Given the description of an element on the screen output the (x, y) to click on. 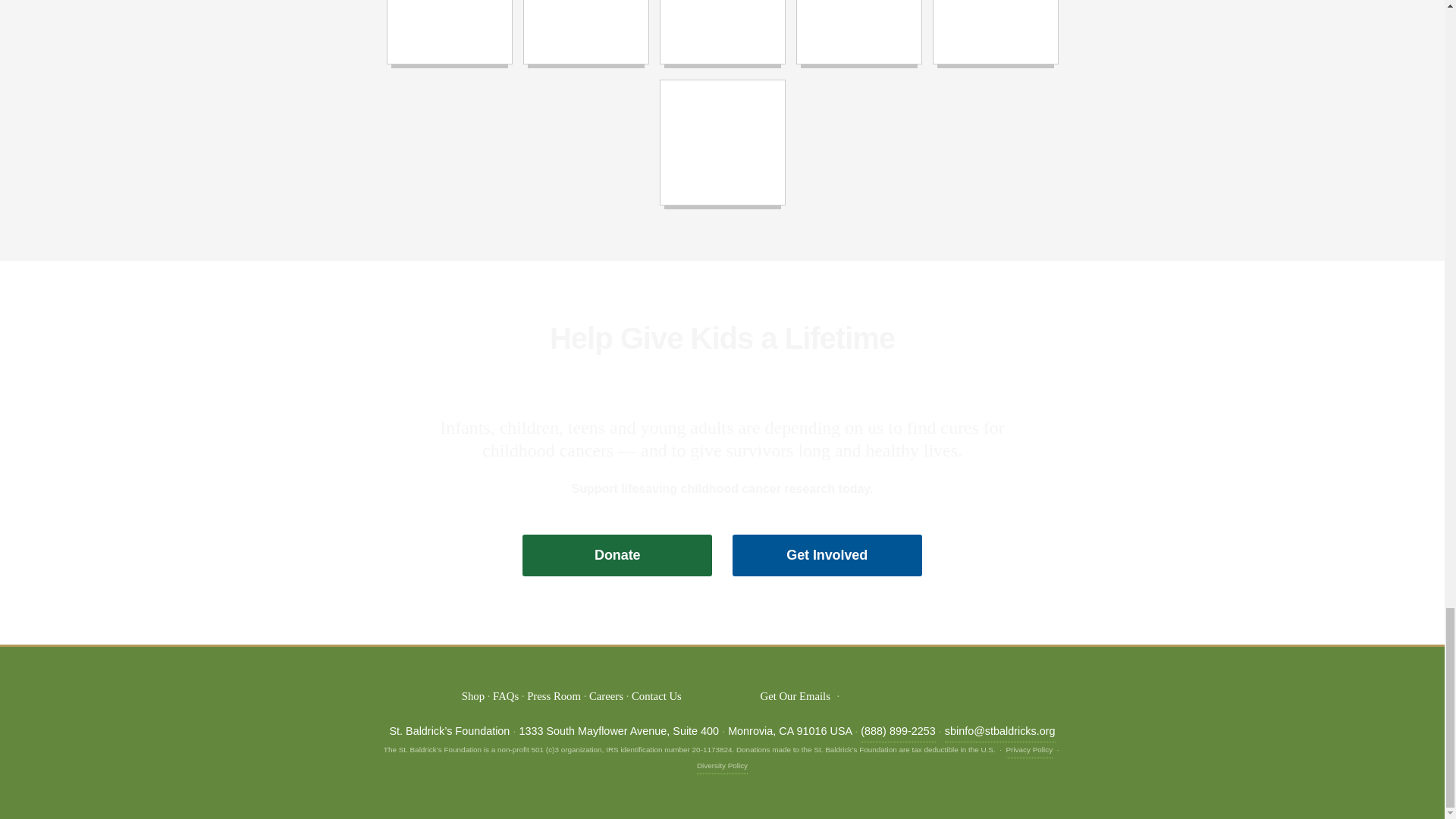
Donate (616, 555)
Get Involved (826, 555)
